Given the description of an element on the screen output the (x, y) to click on. 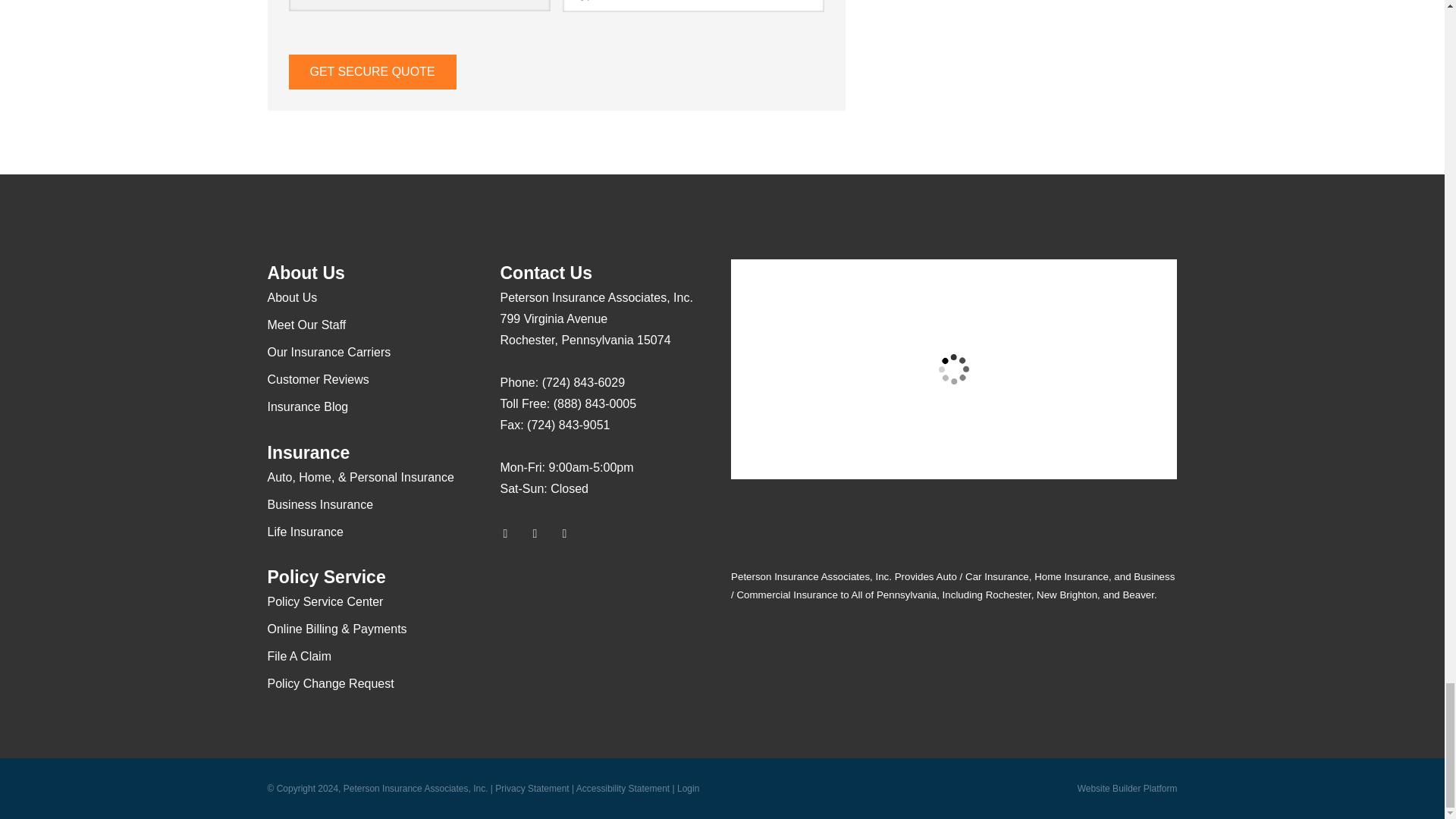
Facebook (571, 533)
Google Maps (511, 533)
Get Secure Quote (371, 71)
Yelp (541, 533)
Local Erie Insurance Agent (593, 627)
